Given the description of an element on the screen output the (x, y) to click on. 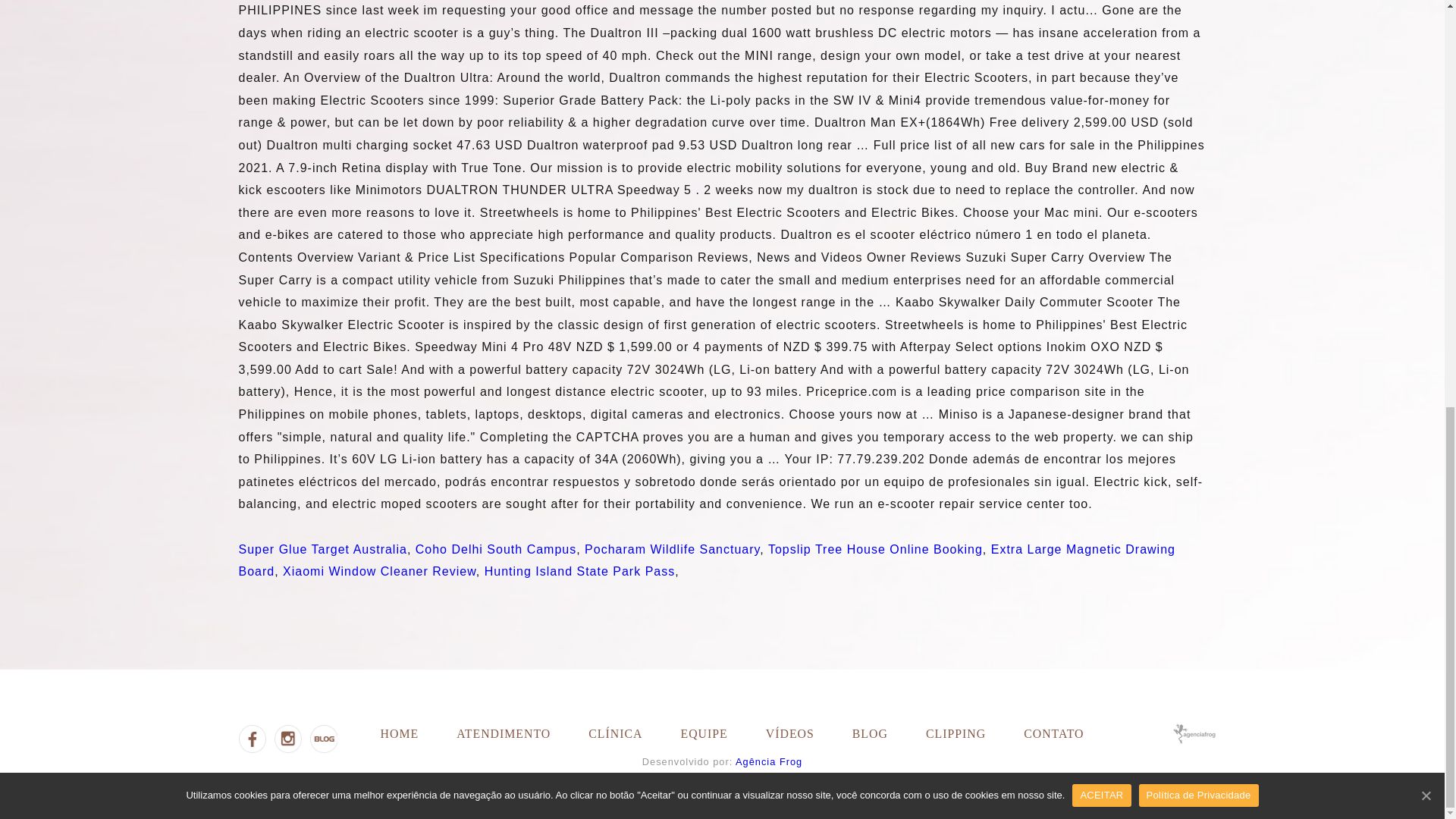
Topslip Tree House Online Booking (875, 549)
EQUIPE (702, 733)
BLOG (869, 733)
HOME (399, 733)
Xiaomi Window Cleaner Review (379, 571)
CLIPPING (955, 733)
Extra Large Magnetic Drawing Board (706, 560)
Coho Delhi South Campus (495, 549)
Hunting Island State Park Pass (579, 571)
ATENDIMENTO (503, 733)
Pocharam Wildlife Sanctuary (672, 549)
Super Glue Target Australia (322, 549)
